Given the description of an element on the screen output the (x, y) to click on. 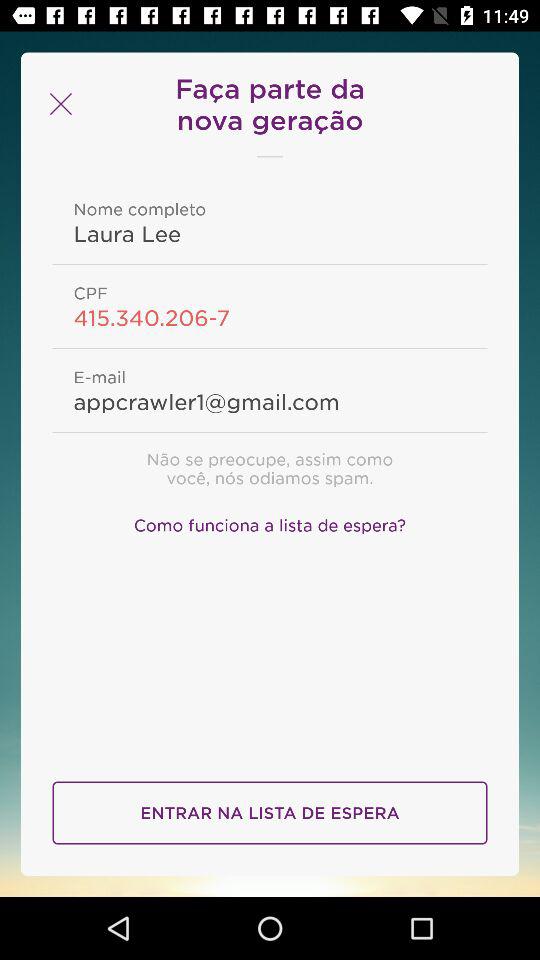
open the icon above the e-mail item (269, 317)
